Given the description of an element on the screen output the (x, y) to click on. 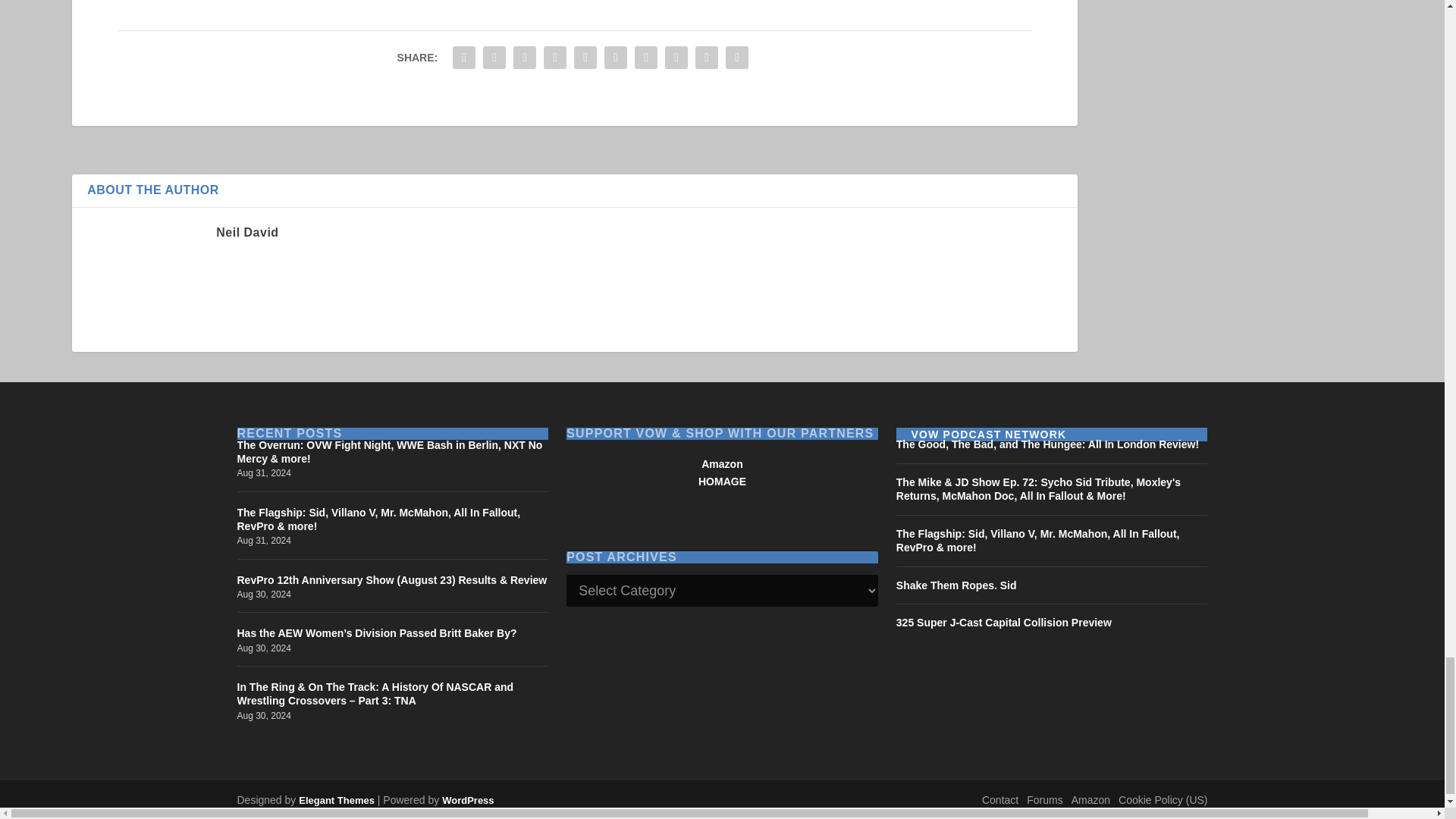
Share "Bowling Alone: Is Rev Pro OK?" via LinkedIn (614, 57)
Share "Bowling Alone: Is Rev Pro OK?" via Pinterest (584, 57)
Share "Bowling Alone: Is Rev Pro OK?" via Print (737, 57)
Share "Bowling Alone: Is Rev Pro OK?" via Facebook (463, 57)
Share "Bowling Alone: Is Rev Pro OK?" via Buffer (645, 57)
Share "Bowling Alone: Is Rev Pro OK?" via Twitter (494, 57)
Share "Bowling Alone: Is Rev Pro OK?" via Stumbleupon (676, 57)
View all posts by Neil David (246, 232)
Share "Bowling Alone: Is Rev Pro OK?" via Tumblr (555, 57)
Share "Bowling Alone: Is Rev Pro OK?" via Email (706, 57)
